Given the description of an element on the screen output the (x, y) to click on. 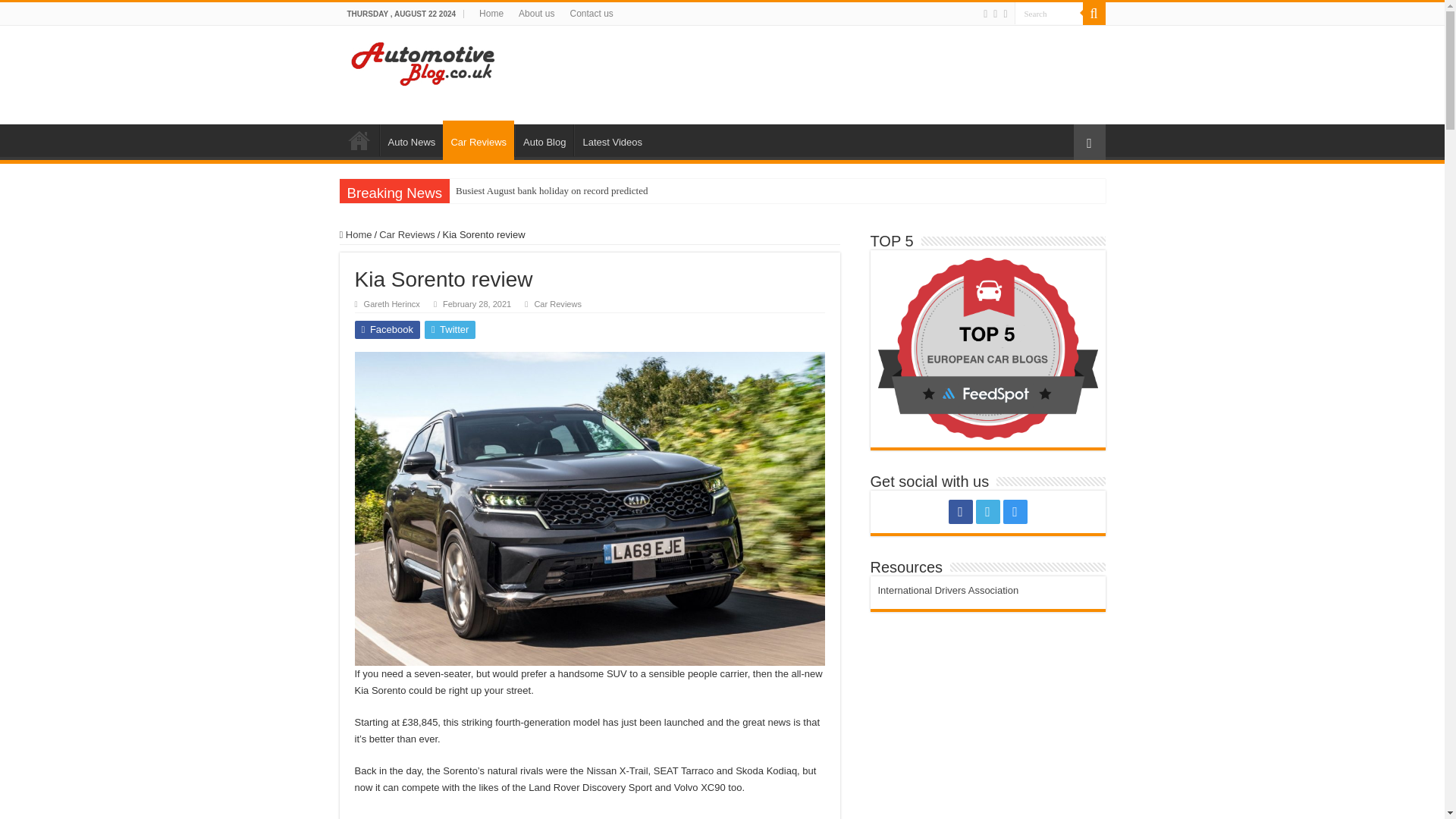
About us (536, 13)
Home (358, 140)
Contact us (591, 13)
Search (1048, 13)
Advertisement (817, 74)
Auto Blog (544, 140)
Busiest August bank holiday on record predicted (551, 191)
Gareth Herincx (392, 303)
Twitter (450, 330)
Car Reviews (557, 303)
